Given the description of an element on the screen output the (x, y) to click on. 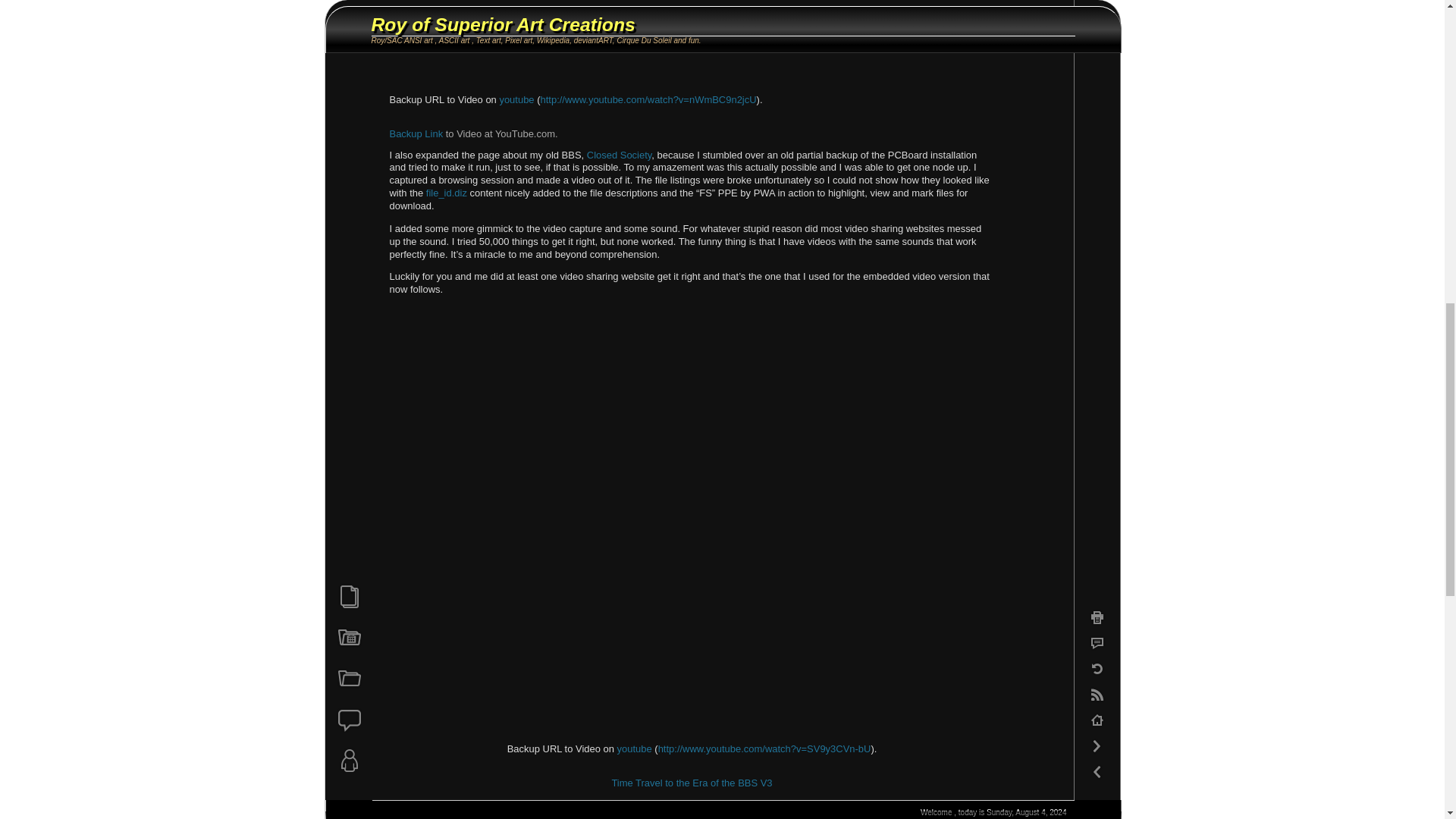
Backup Link (417, 133)
youtube (516, 99)
Time Travel to the Era of the BBS V3 (691, 782)
Closed Society (619, 154)
youtube (634, 748)
